Given the description of an element on the screen output the (x, y) to click on. 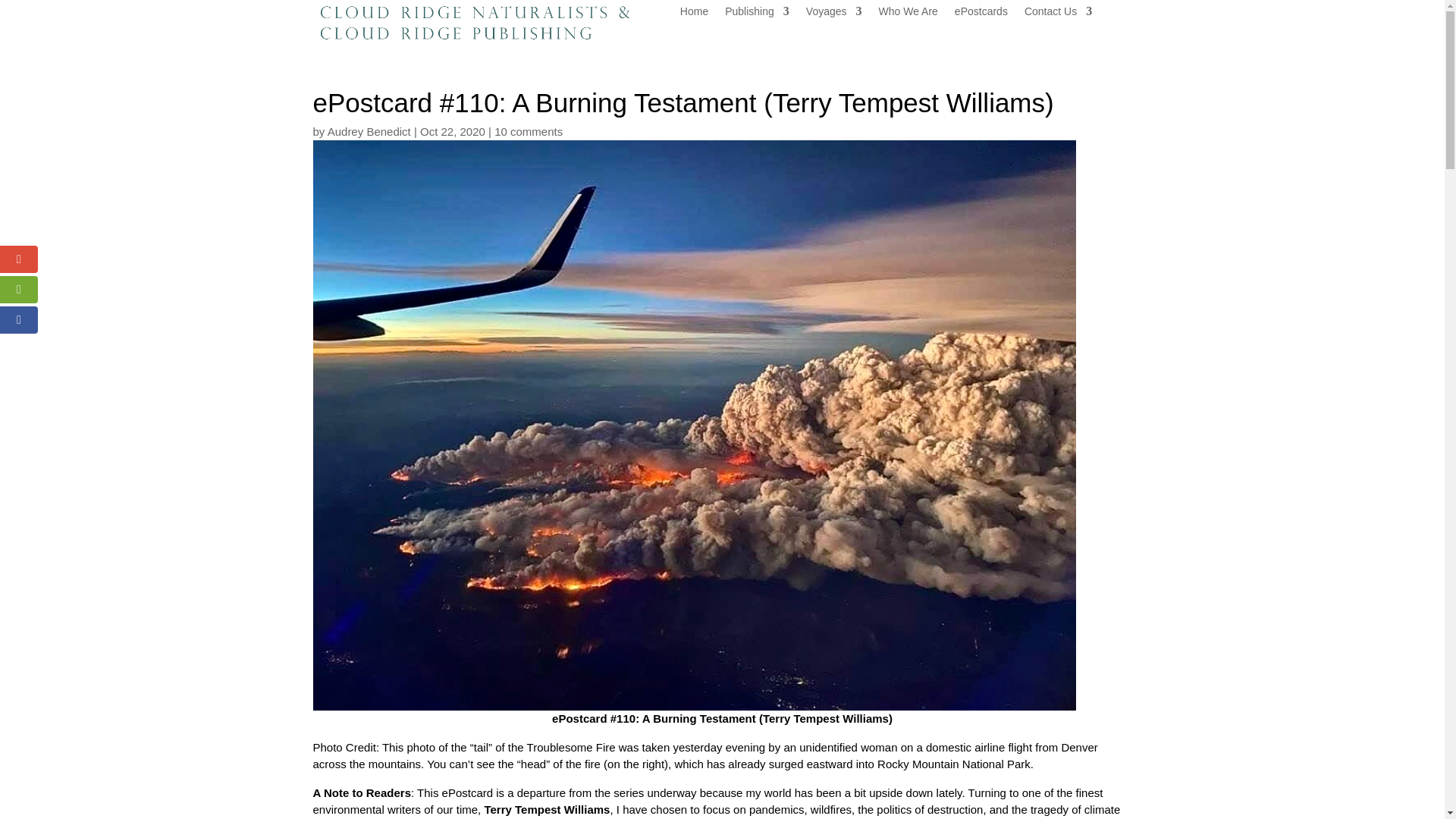
Who We Are (908, 13)
Voyages (833, 13)
Home (693, 13)
Publishing (757, 13)
ePostcards (981, 13)
Audrey Benedict (368, 131)
10 comments (528, 131)
CRN-CRP header-v2.1 blog (476, 22)
Posts by Audrey Benedict (368, 131)
